Given the description of an element on the screen output the (x, y) to click on. 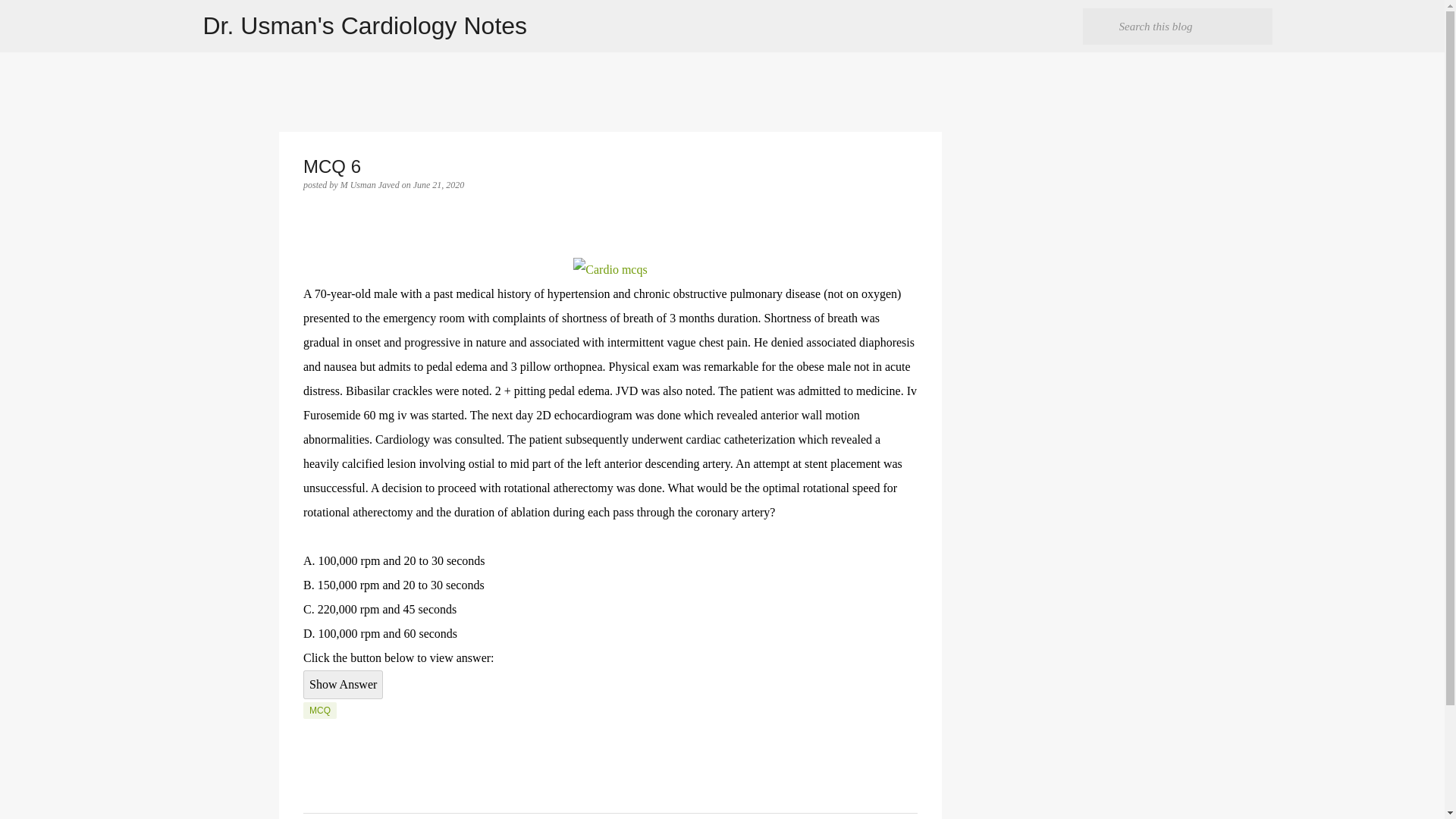
Dr. Usman's Cardiology Notes (365, 25)
Show Answer (342, 684)
June 21, 2020 (438, 184)
M Usman Javed (370, 184)
permanent link (438, 184)
MCQs (609, 269)
MCQ (319, 710)
author profile (370, 184)
